Given the description of an element on the screen output the (x, y) to click on. 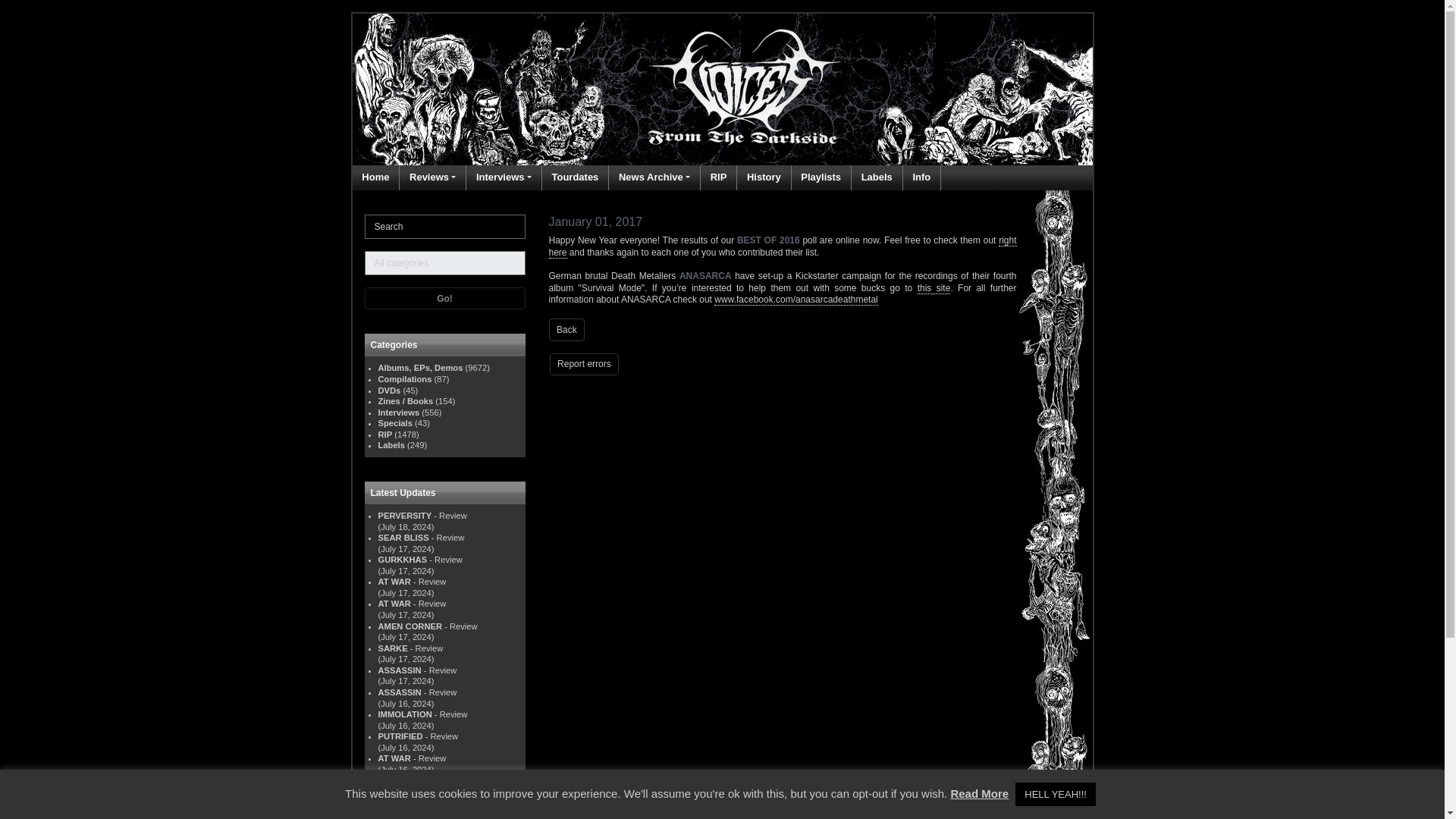
Tourdates (574, 177)
Reviews (432, 177)
History (764, 177)
News Archive (653, 177)
RIP (718, 177)
Interviews (503, 177)
Home (374, 177)
